Given the description of an element on the screen output the (x, y) to click on. 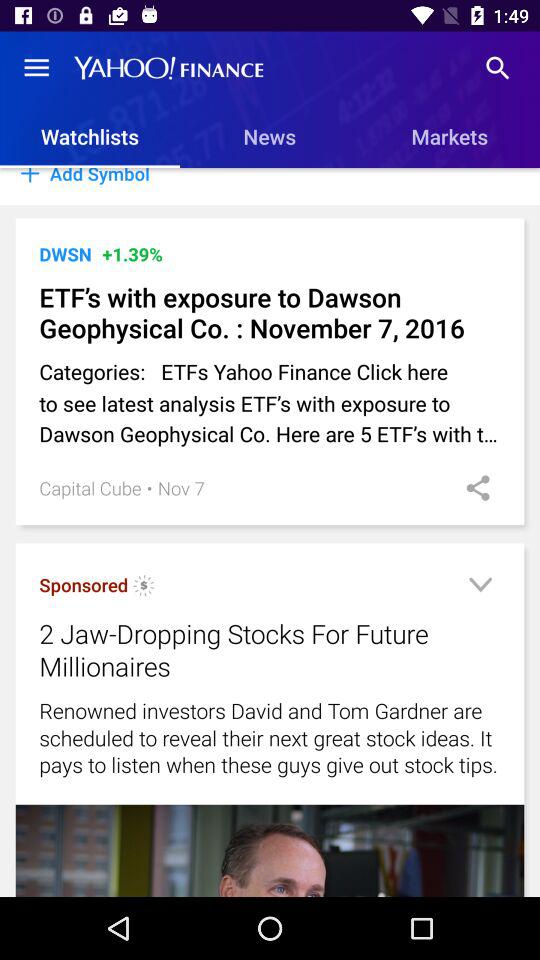
show less (480, 587)
